Given the description of an element on the screen output the (x, y) to click on. 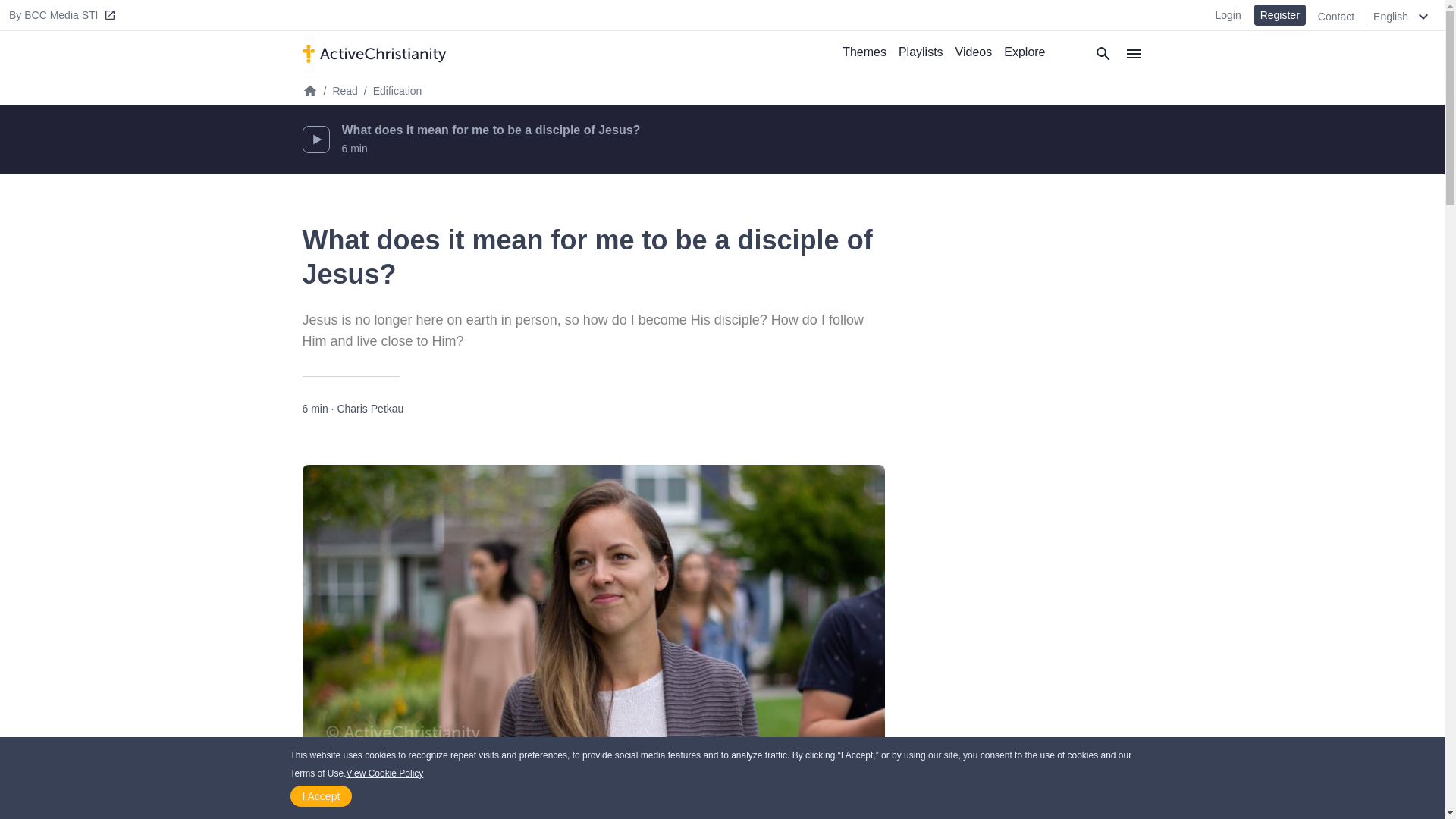
View Cookie Policy (384, 770)
Playlists (920, 51)
Charis Petkau (369, 408)
Explore (1024, 51)
Videos (973, 51)
I Accept (320, 795)
Themes (863, 51)
English (1405, 16)
By BCC Media STI (63, 14)
Edification (397, 90)
